Given the description of an element on the screen output the (x, y) to click on. 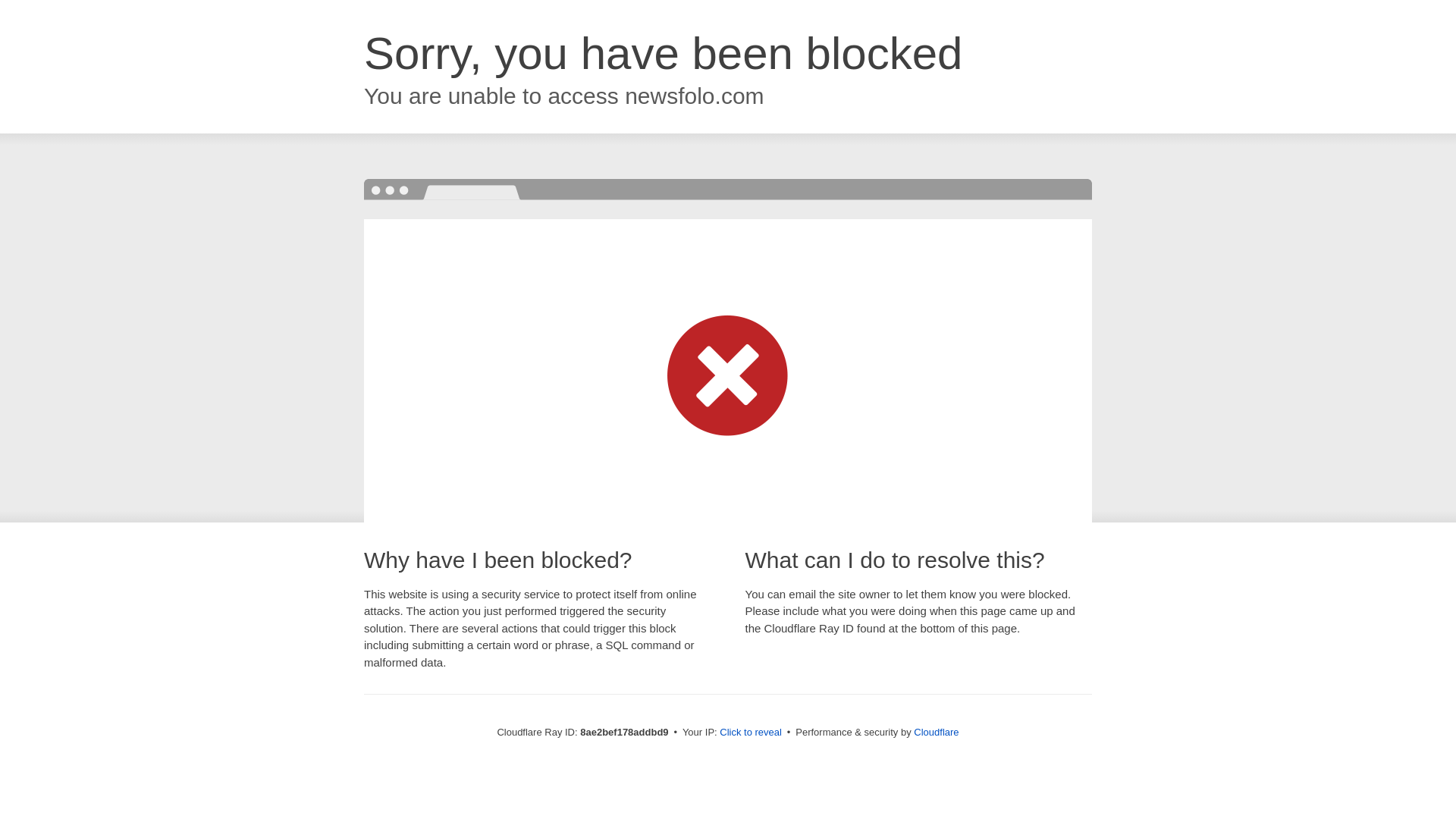
Click to reveal (750, 732)
Cloudflare (936, 731)
